Given the description of an element on the screen output the (x, y) to click on. 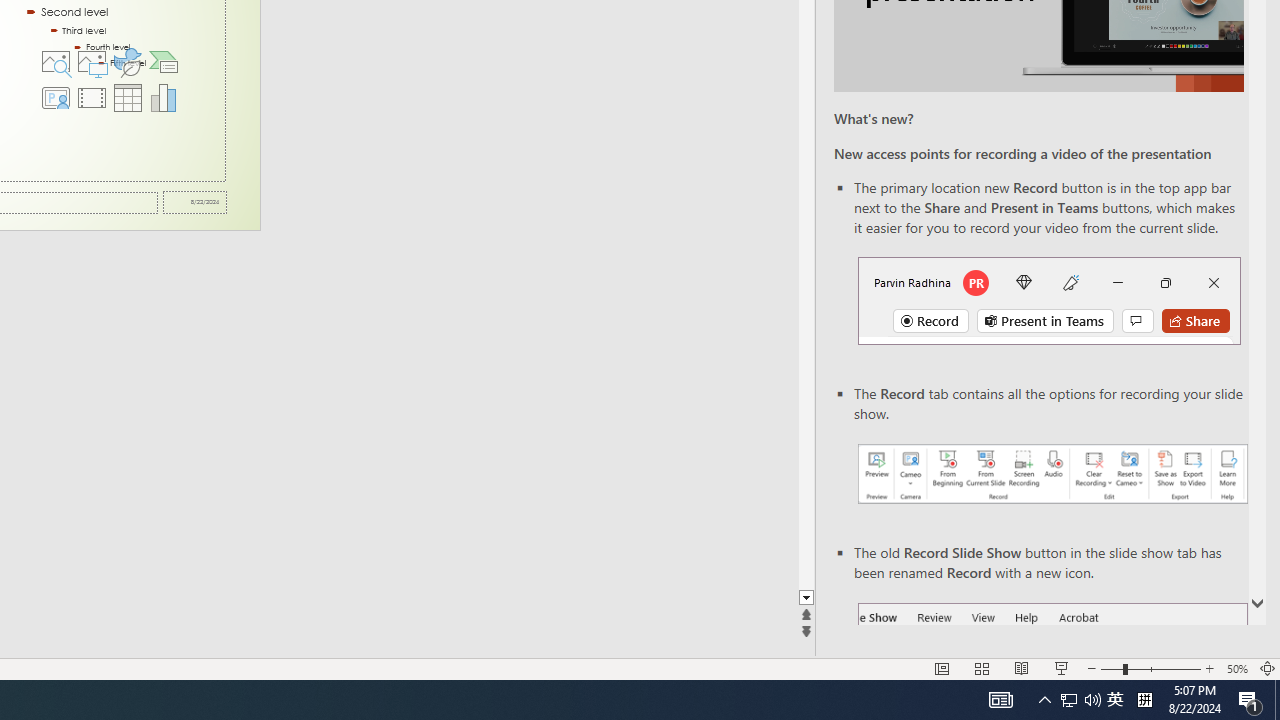
Insert a SmartArt Graphic (164, 61)
Line down (806, 597)
Insert Table (127, 97)
Insert Video (91, 97)
